Given the description of an element on the screen output the (x, y) to click on. 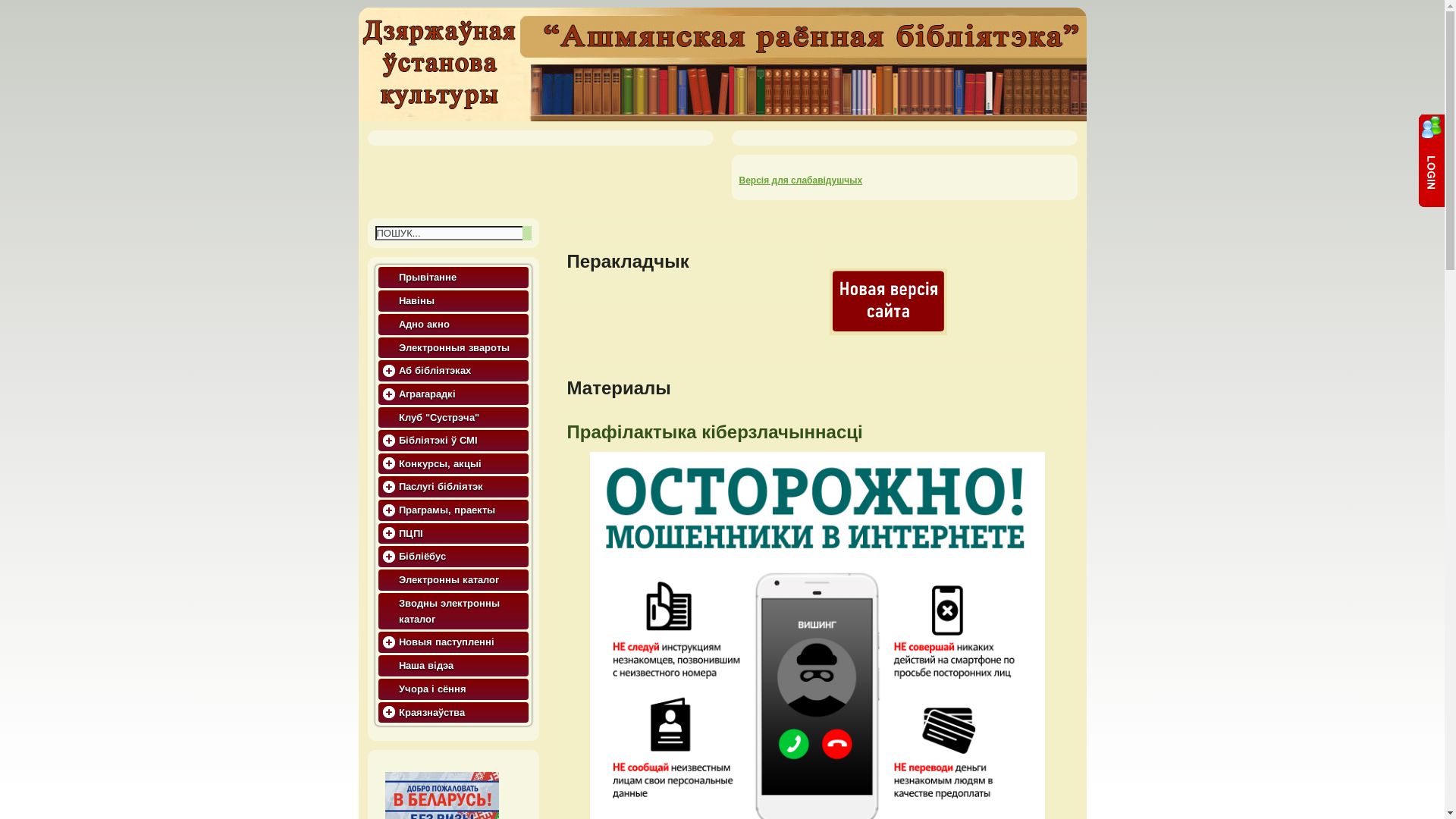
Russian Element type: hover (715, 283)
English Element type: hover (589, 283)
Latvian Element type: hover (652, 283)
French Element type: hover (610, 283)
German Element type: hover (630, 283)
Lithuanian Element type: hover (673, 283)
Belarusian Element type: hover (568, 283)
Polish Element type: hover (693, 283)
RizVN Login Element type: hover (1430, 160)
